Given the description of an element on the screen output the (x, y) to click on. 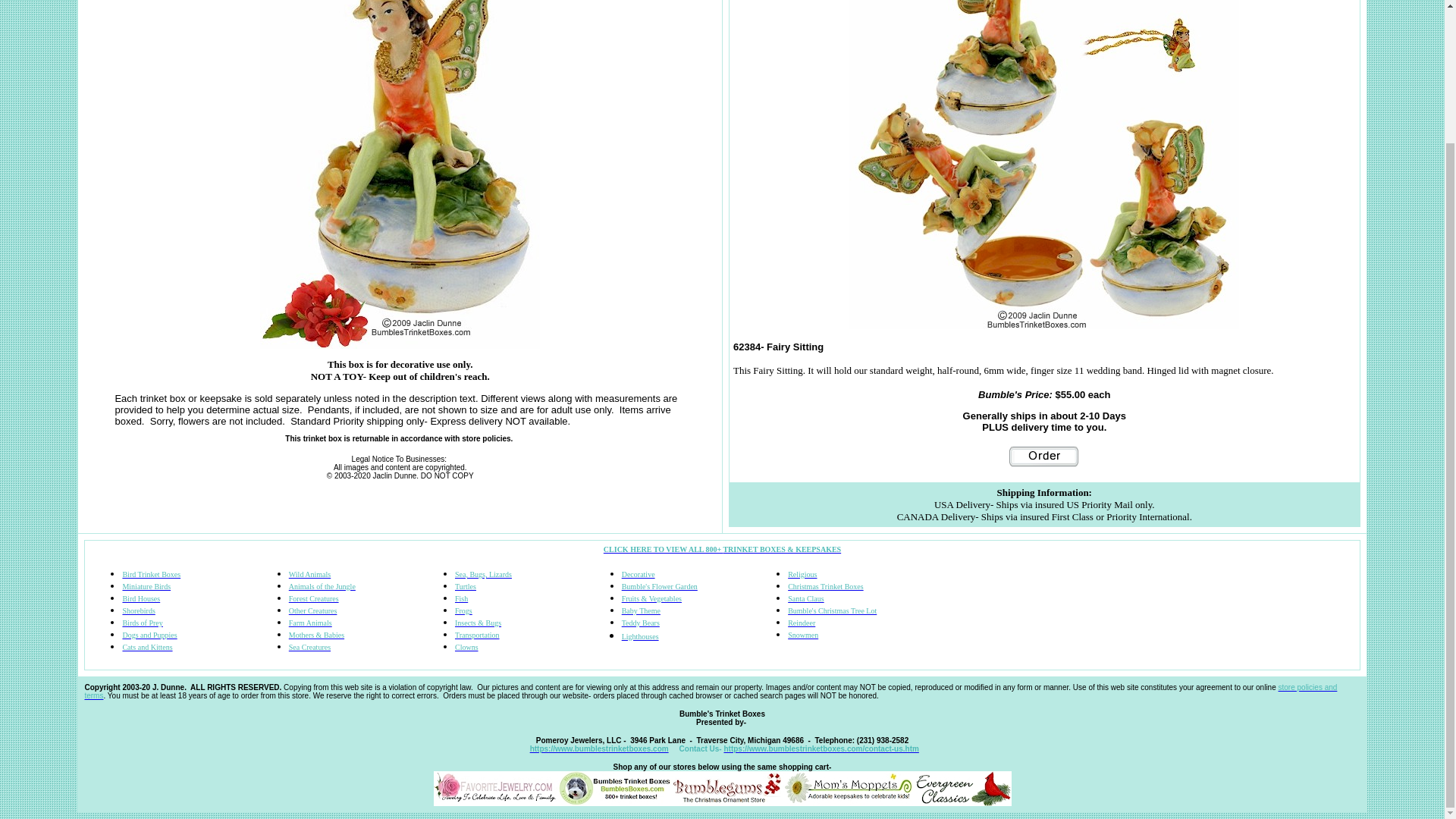
Animals of the Jungle (321, 586)
Birds of Prey (141, 623)
Shorebirds (138, 610)
Wild Animals (309, 574)
Bird Houses (141, 598)
Frogs (462, 610)
Dogs and Puppies (149, 634)
Miniature Birds (146, 586)
Other Creatures (312, 610)
Forest Creatures (313, 598)
Cats and Kittens (146, 646)
Turtles (465, 586)
Sea Creatures (309, 646)
Bird Trinket Boxes (151, 574)
Farm Animals (309, 623)
